Given the description of an element on the screen output the (x, y) to click on. 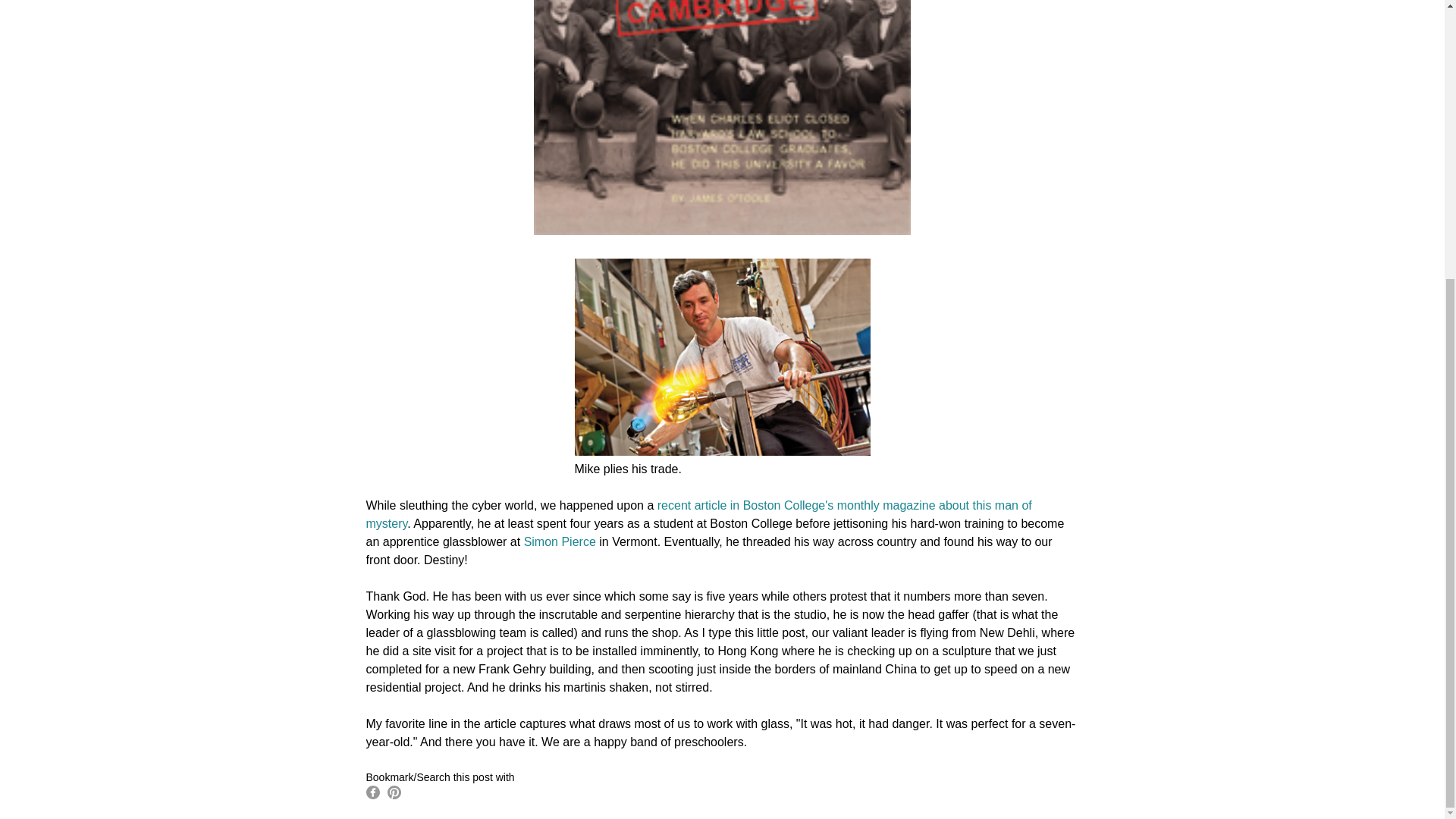
Pin it (393, 792)
Share on Facebook (371, 792)
Simon Pierce (559, 541)
Simon Pierce (559, 541)
